Given the description of an element on the screen output the (x, y) to click on. 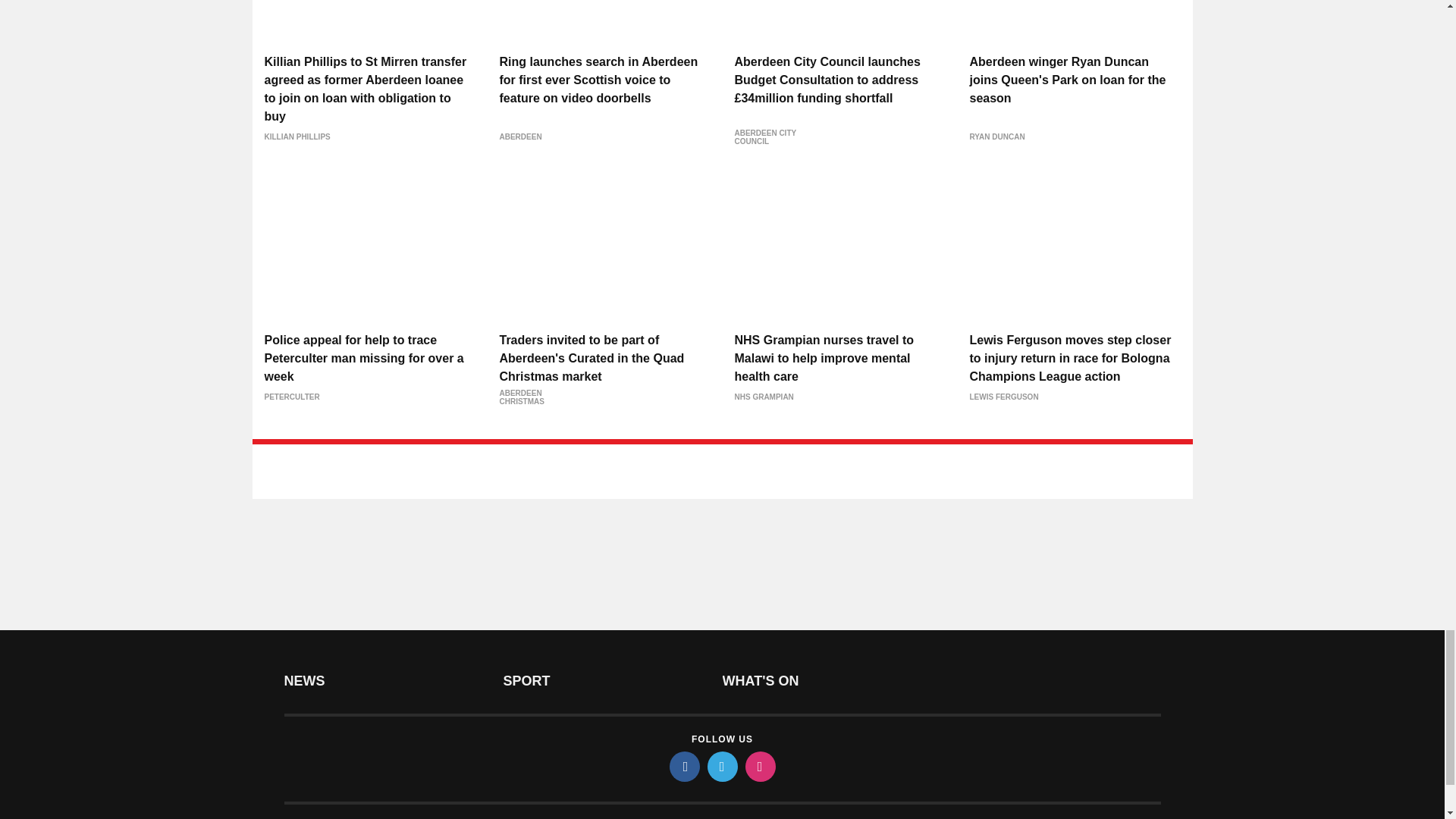
twitter (721, 766)
facebook (683, 766)
instagram (759, 766)
